Given the description of an element on the screen output the (x, y) to click on. 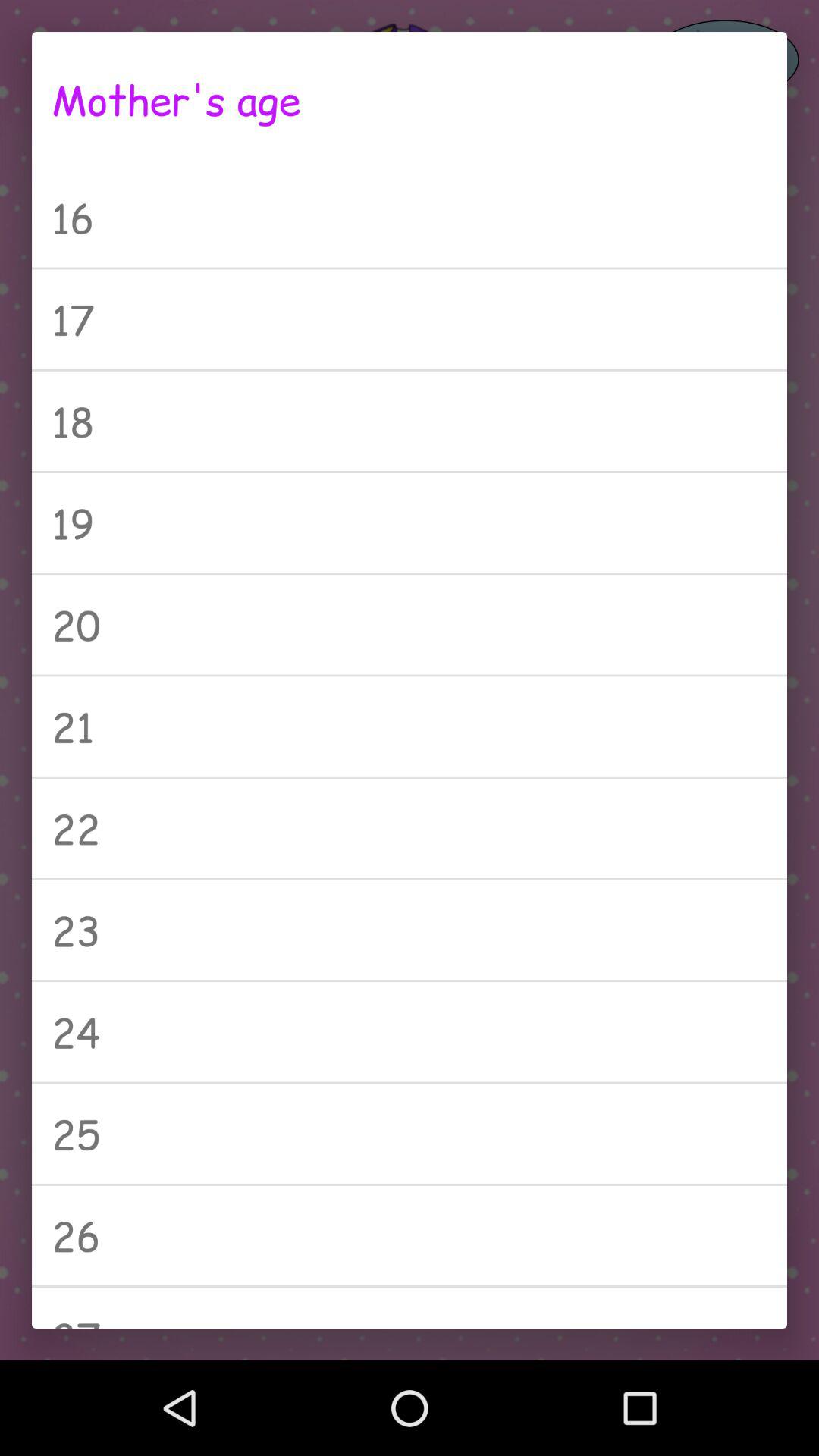
click item below the 21 icon (409, 828)
